Given the description of an element on the screen output the (x, y) to click on. 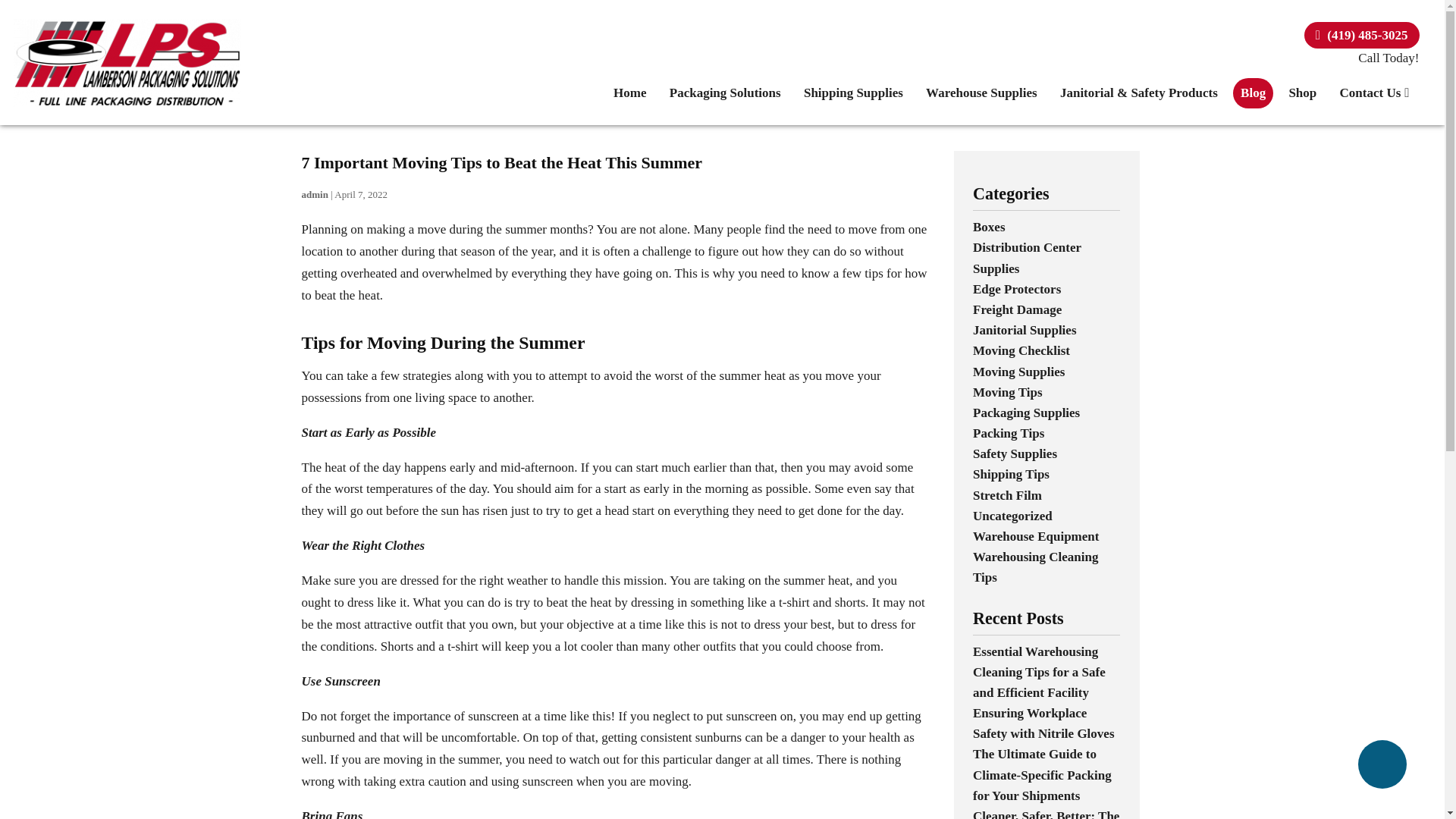
Ensuring Workplace Safety with Nitrile Gloves (1043, 723)
Distribution Center Supplies (1026, 257)
Shop (1302, 92)
Stretch Film (1007, 495)
Packing Tips (1007, 432)
Moving Tips (1007, 391)
Packaging Supplies (1026, 412)
Shipping Supplies (853, 92)
Uncategorized (1012, 515)
Janitorial Supplies (1024, 329)
7 Important Moving Tips to Beat the Heat This Summer (502, 162)
Warehousing Cleaning Tips (1034, 566)
Shipping Tips (1010, 473)
Packaging Solutions (725, 92)
Posts by admin (315, 194)
